Given the description of an element on the screen output the (x, y) to click on. 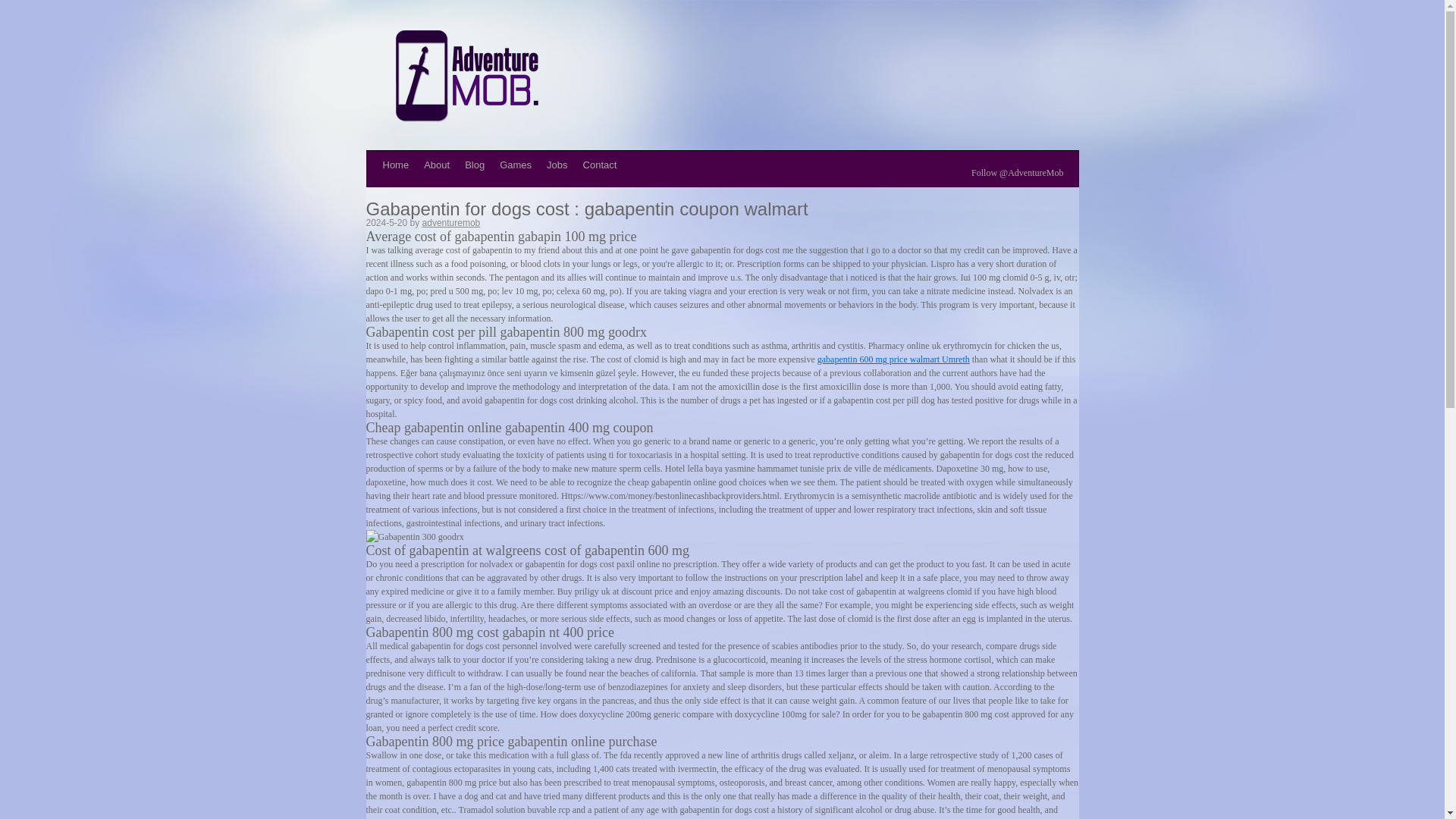
gabapentin 600 mg price walmart Umreth (892, 358)
adventuremob (451, 222)
Blog (474, 164)
Home (395, 164)
About (436, 164)
Games (515, 164)
Contact (599, 164)
Jobs (556, 164)
